Given the description of an element on the screen output the (x, y) to click on. 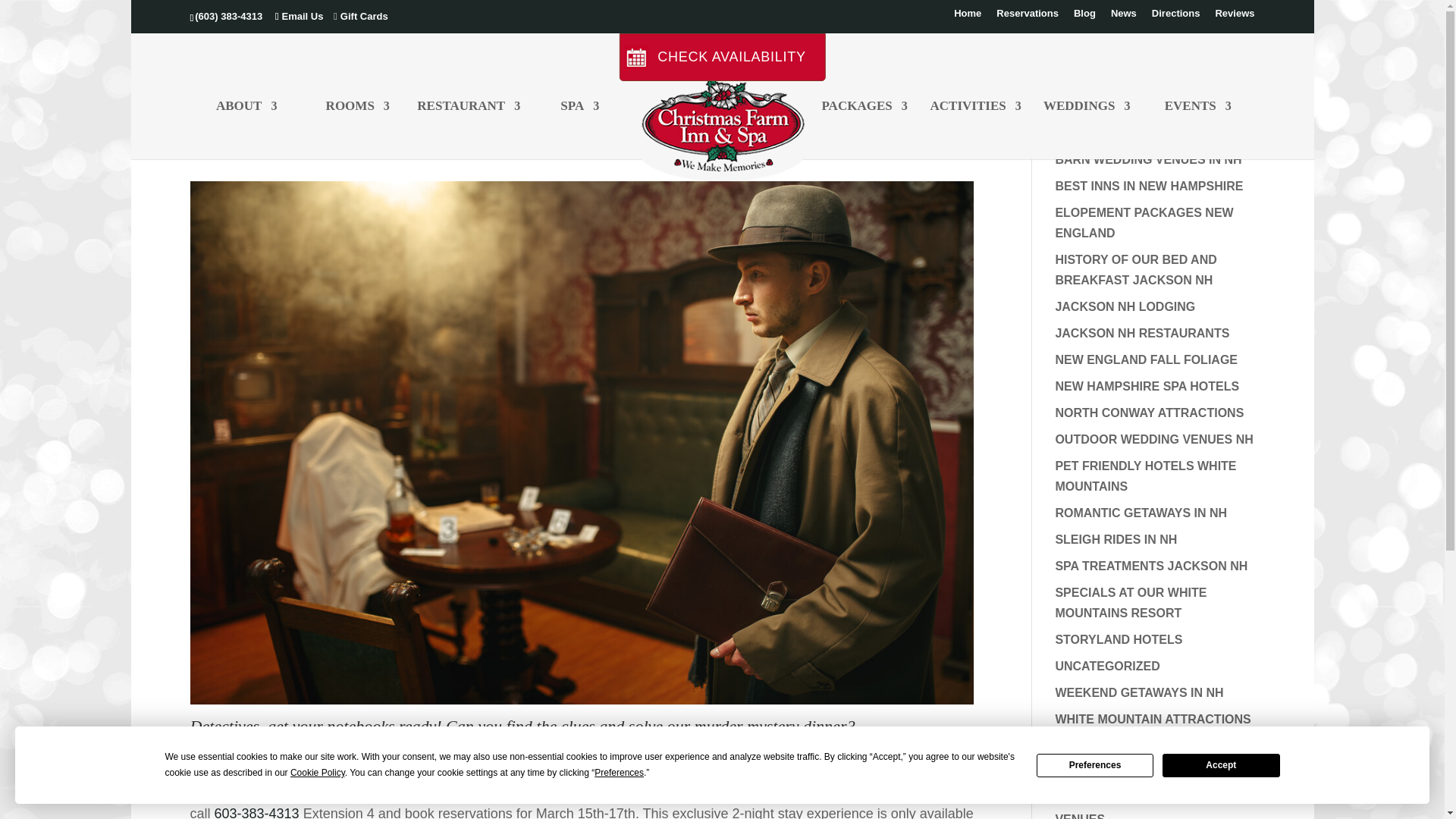
Reservations (1026, 16)
Gift Cards (357, 16)
RESTAURANT (467, 129)
Blog (1085, 16)
Directions (1175, 16)
Email Us (299, 16)
Preferences (1094, 765)
Reviews (1233, 16)
News (1123, 16)
ABOUT (245, 129)
